Given the description of an element on the screen output the (x, y) to click on. 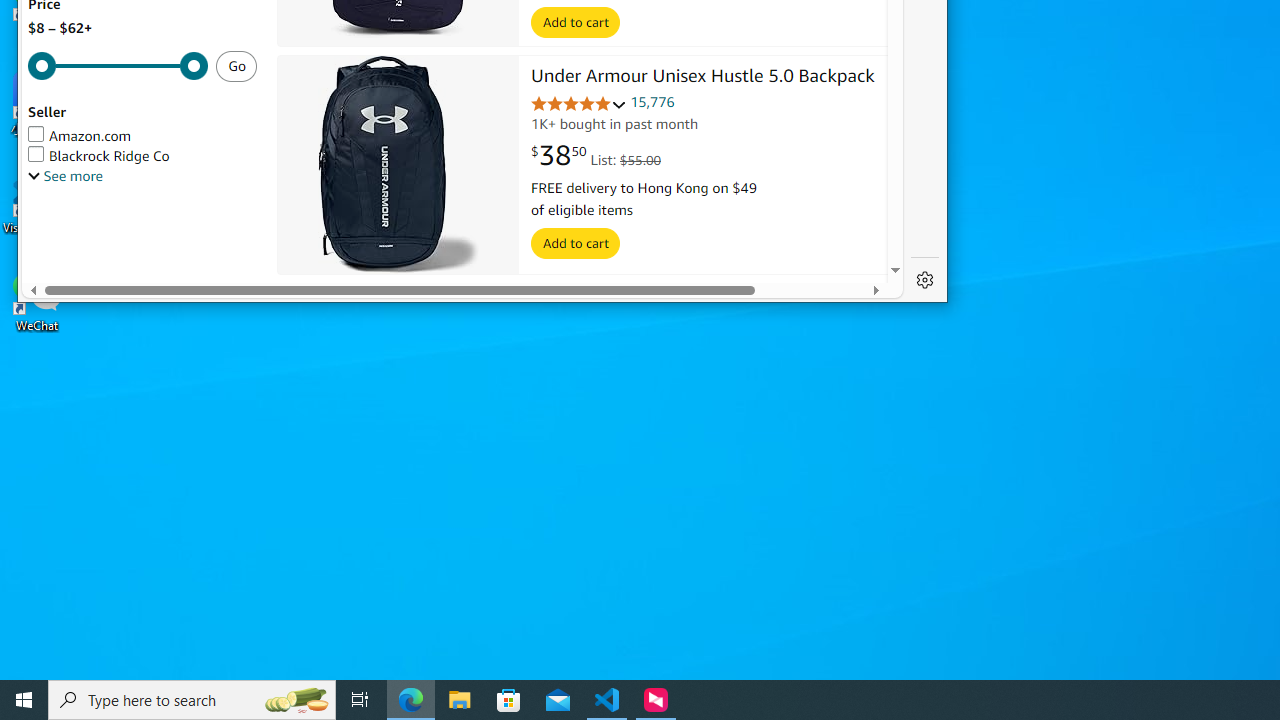
Add to cart (575, 243)
Blackrock Ridge Co (99, 156)
15,776 (651, 102)
Visual Studio Code - 1 running window (607, 699)
Search highlights icon opens search home window (295, 699)
Type here to search (191, 699)
$38.50 List: $55.00 (596, 156)
Amazon.com (142, 136)
See more, Seller (65, 176)
4.8 out of 5 stars (579, 104)
Go - Submit price range (236, 65)
Amazon.com (79, 135)
Start (24, 699)
Go back to filtering menu (103, 273)
